Given the description of an element on the screen output the (x, y) to click on. 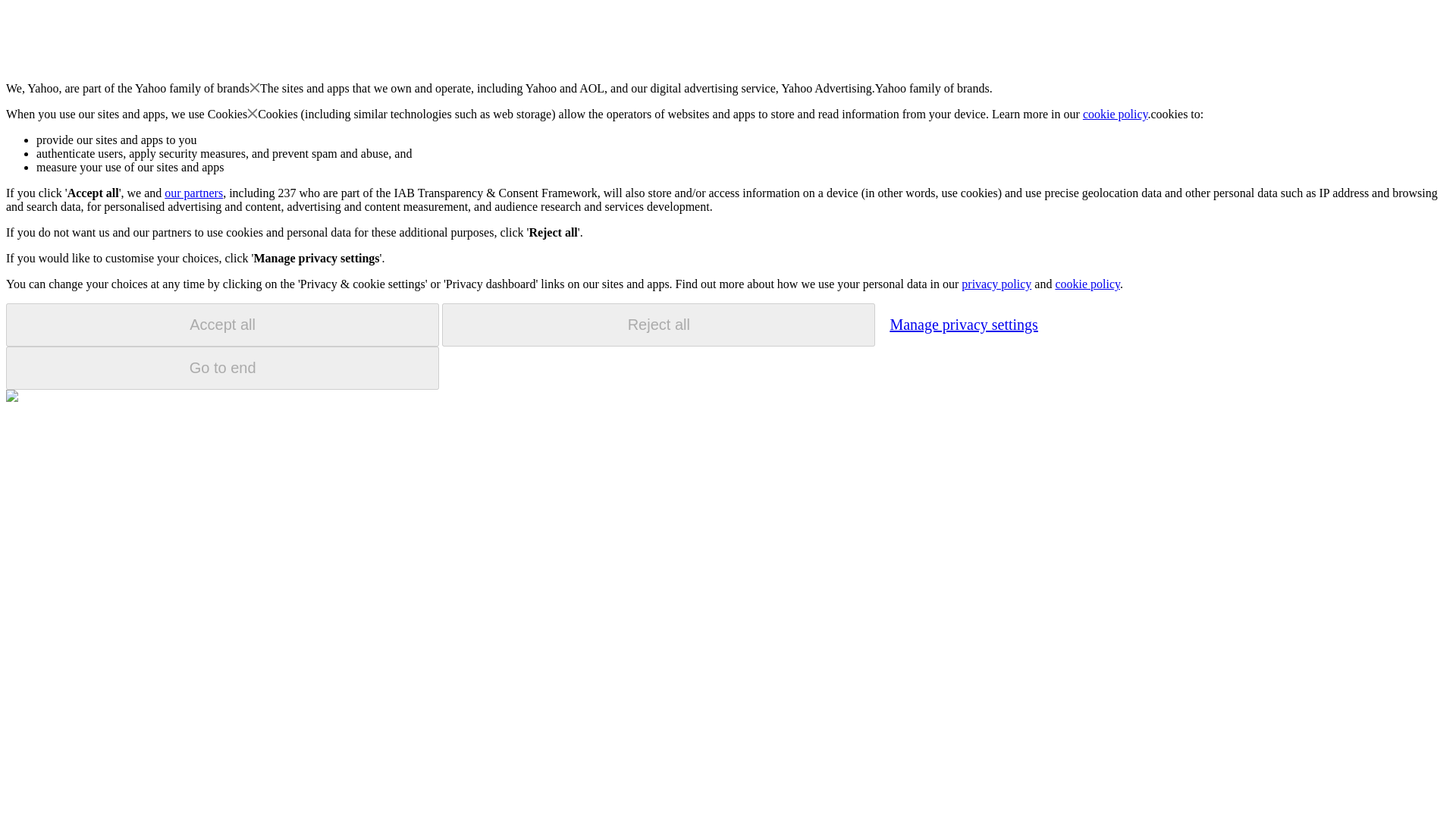
Reject all (658, 324)
cookie policy (1086, 283)
cookie policy (1115, 113)
Manage privacy settings (963, 323)
Accept all (222, 324)
Go to end (222, 367)
privacy policy (995, 283)
our partners (193, 192)
